Given the description of an element on the screen output the (x, y) to click on. 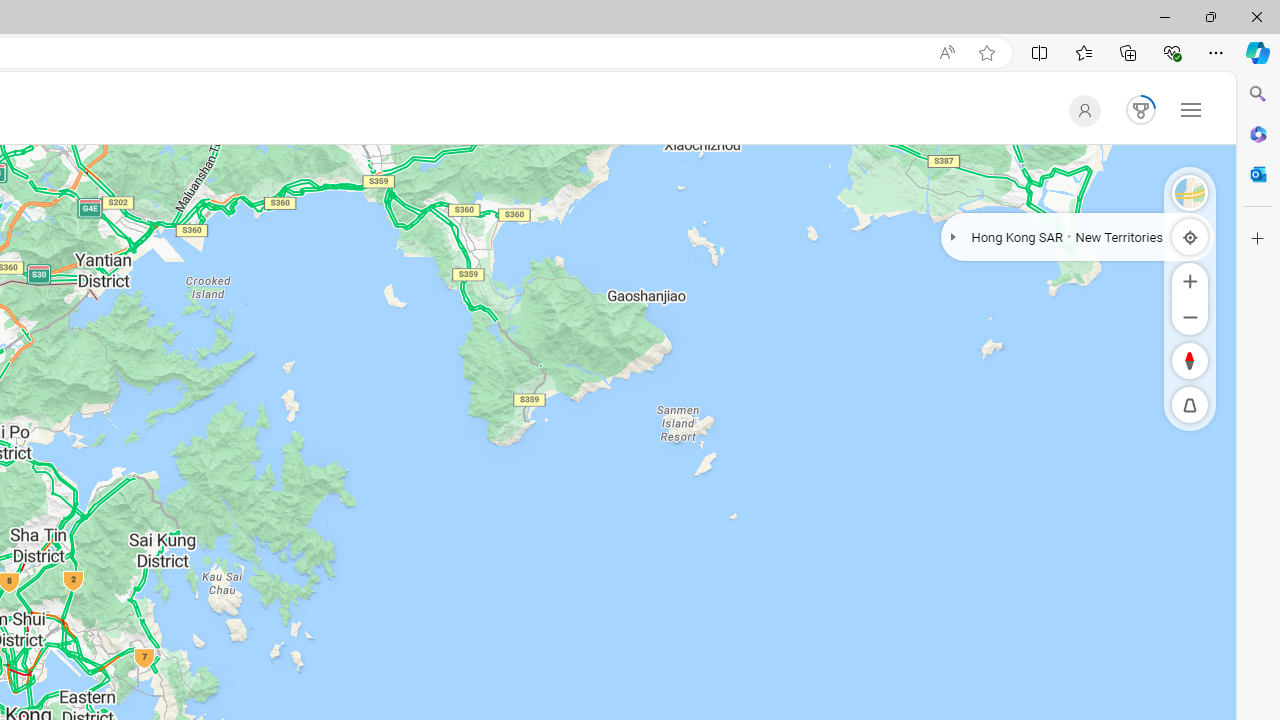
Select Style (1190, 192)
AutomationID: id_l (1080, 110)
Satellite (1190, 192)
Locate me (1190, 236)
Zoom Out (1190, 316)
Zoom In (1190, 280)
Reset to Default Rotation (1190, 360)
